Given the description of an element on the screen output the (x, y) to click on. 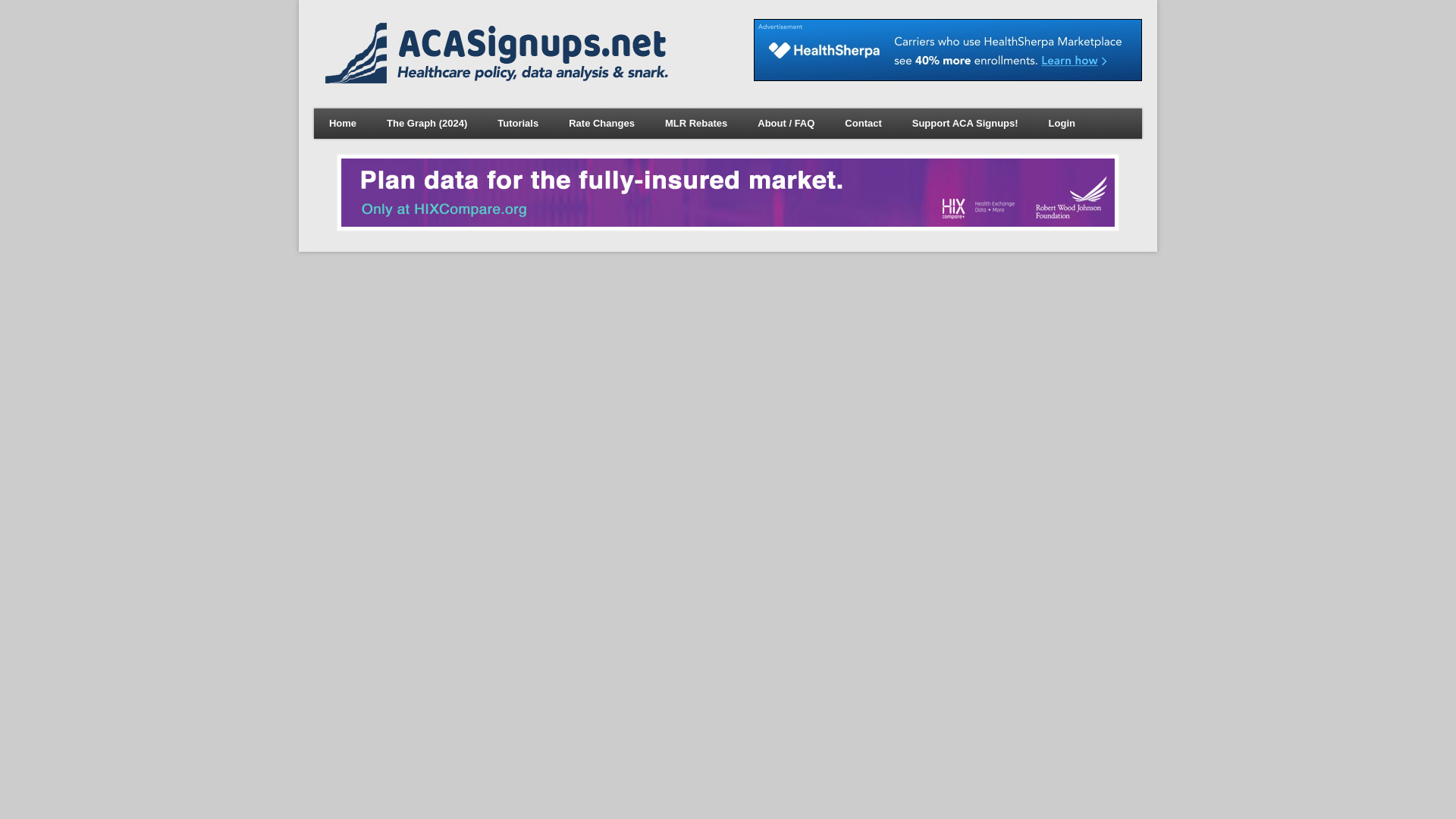
Tutorials (517, 123)
MLR Rebates (695, 123)
Home (342, 123)
Contact (862, 123)
Home (499, 78)
Rate Changes (601, 123)
